Given the description of an element on the screen output the (x, y) to click on. 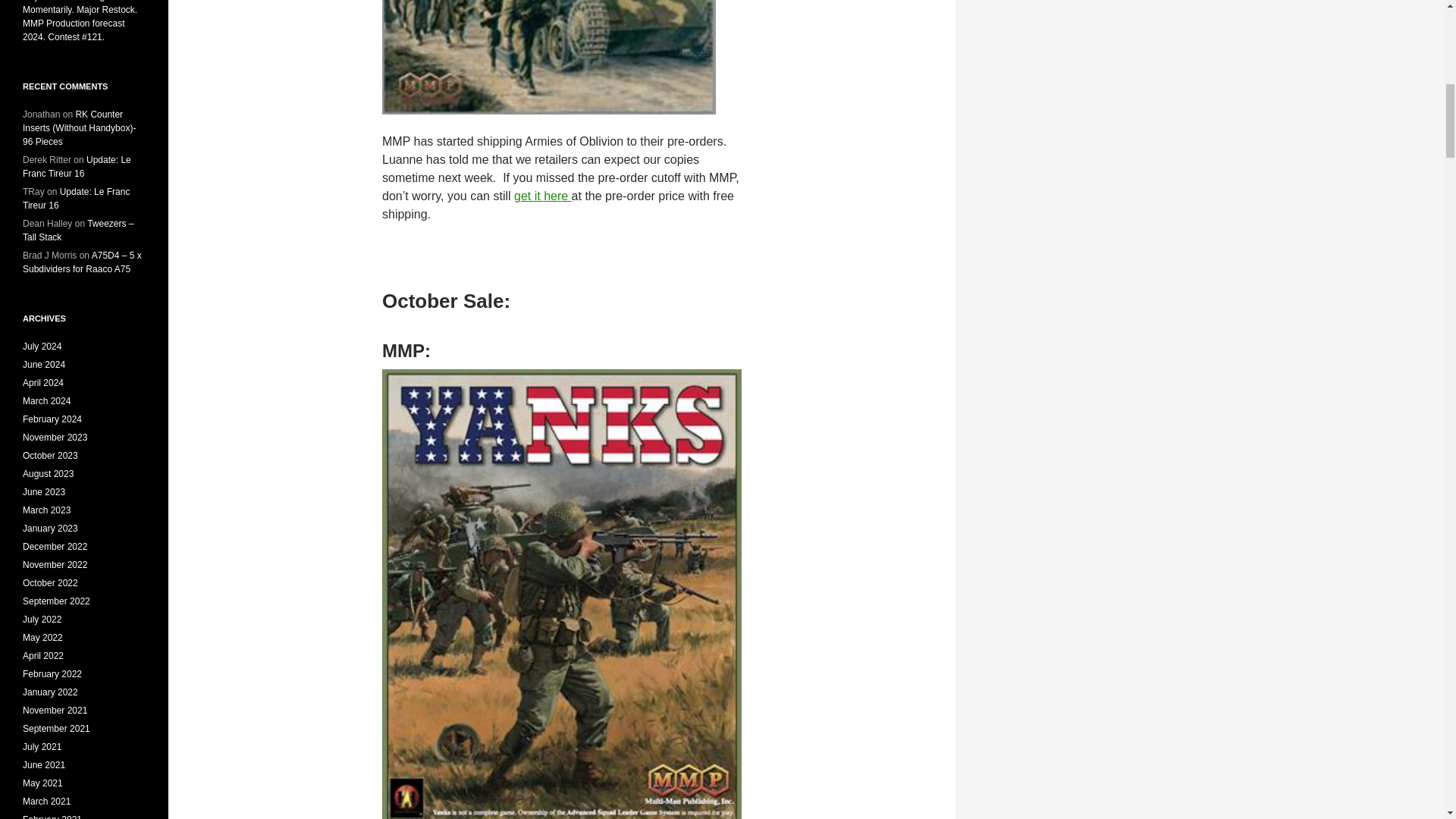
AoO (548, 57)
